Given the description of an element on the screen output the (x, y) to click on. 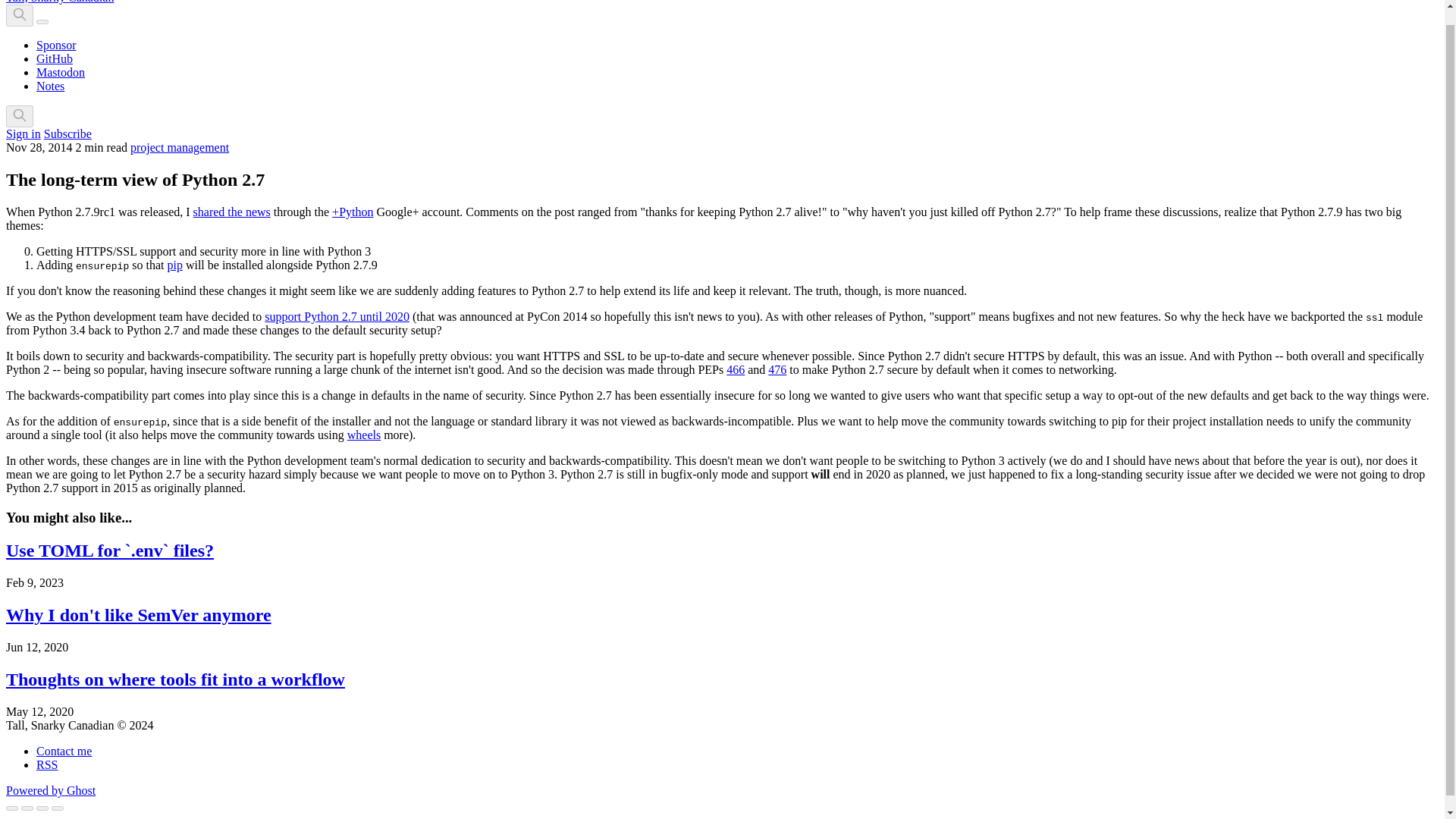
Subscribe (67, 133)
wheels (363, 434)
Mastodon (60, 72)
476 (777, 369)
pip (174, 264)
Toggle fullscreen (42, 807)
Thoughts on where tools fit into a workflow (175, 679)
project management (179, 146)
466 (735, 369)
RSS (47, 764)
project management (179, 146)
Contact me (63, 750)
Share (27, 807)
Tall, Snarky Canadian (59, 2)
Powered by Ghost (50, 789)
